Given the description of an element on the screen output the (x, y) to click on. 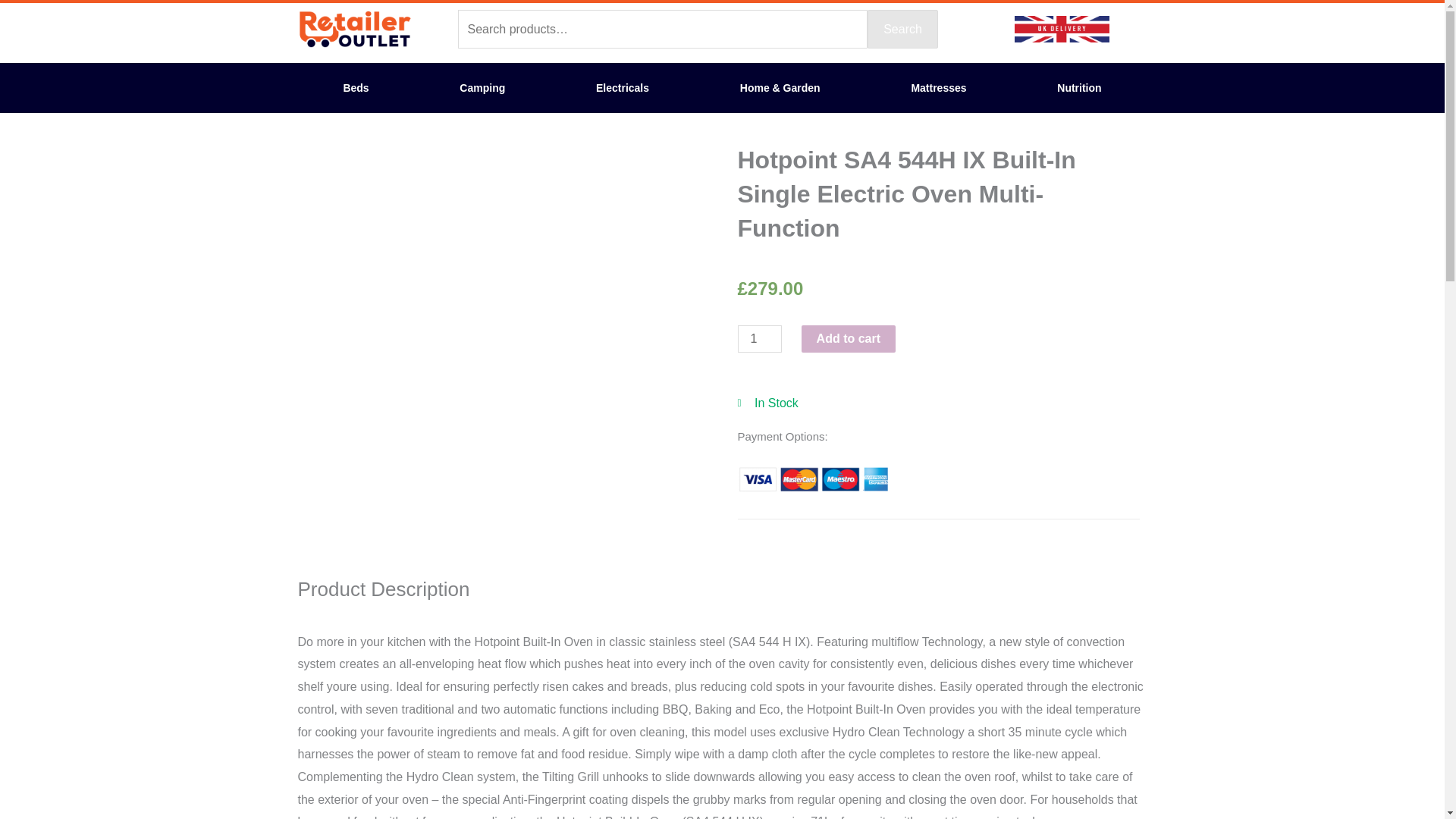
Accepted Payments (812, 479)
Electricals (622, 87)
Nutrition (1079, 87)
Add to cart (848, 338)
Search (902, 29)
Camping (481, 87)
Beds (355, 87)
Mattresses (938, 87)
1 (758, 338)
